Given the description of an element on the screen output the (x, y) to click on. 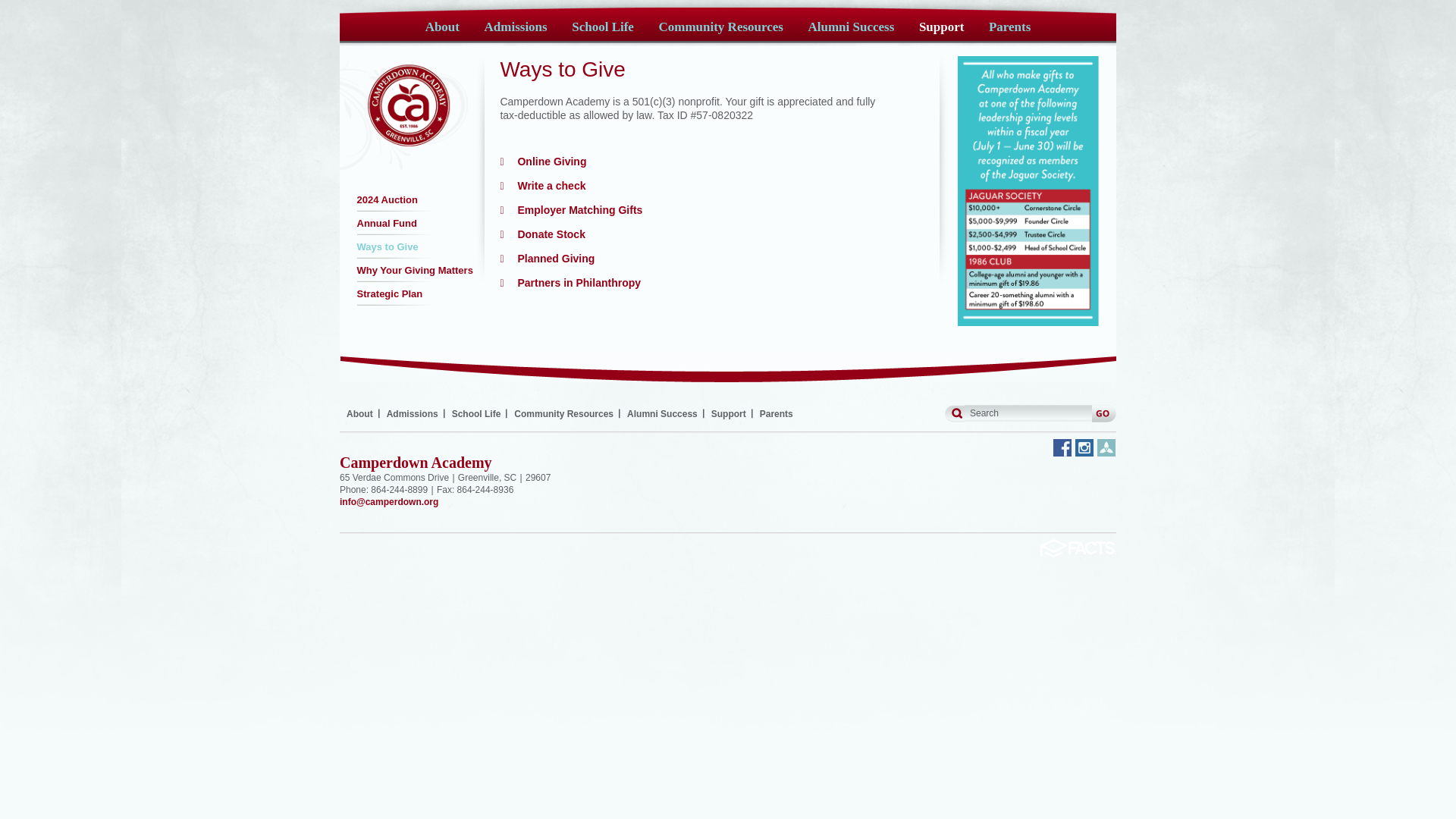
Admissions (515, 31)
search (1029, 412)
Expand (546, 258)
Expand (542, 161)
Expand (542, 234)
School Life (602, 31)
Expand (542, 185)
Expand (569, 282)
Expand (570, 209)
Community Resources (720, 31)
Support (940, 31)
Alumni Success (851, 31)
About (442, 31)
search (1029, 412)
